Given the description of an element on the screen output the (x, y) to click on. 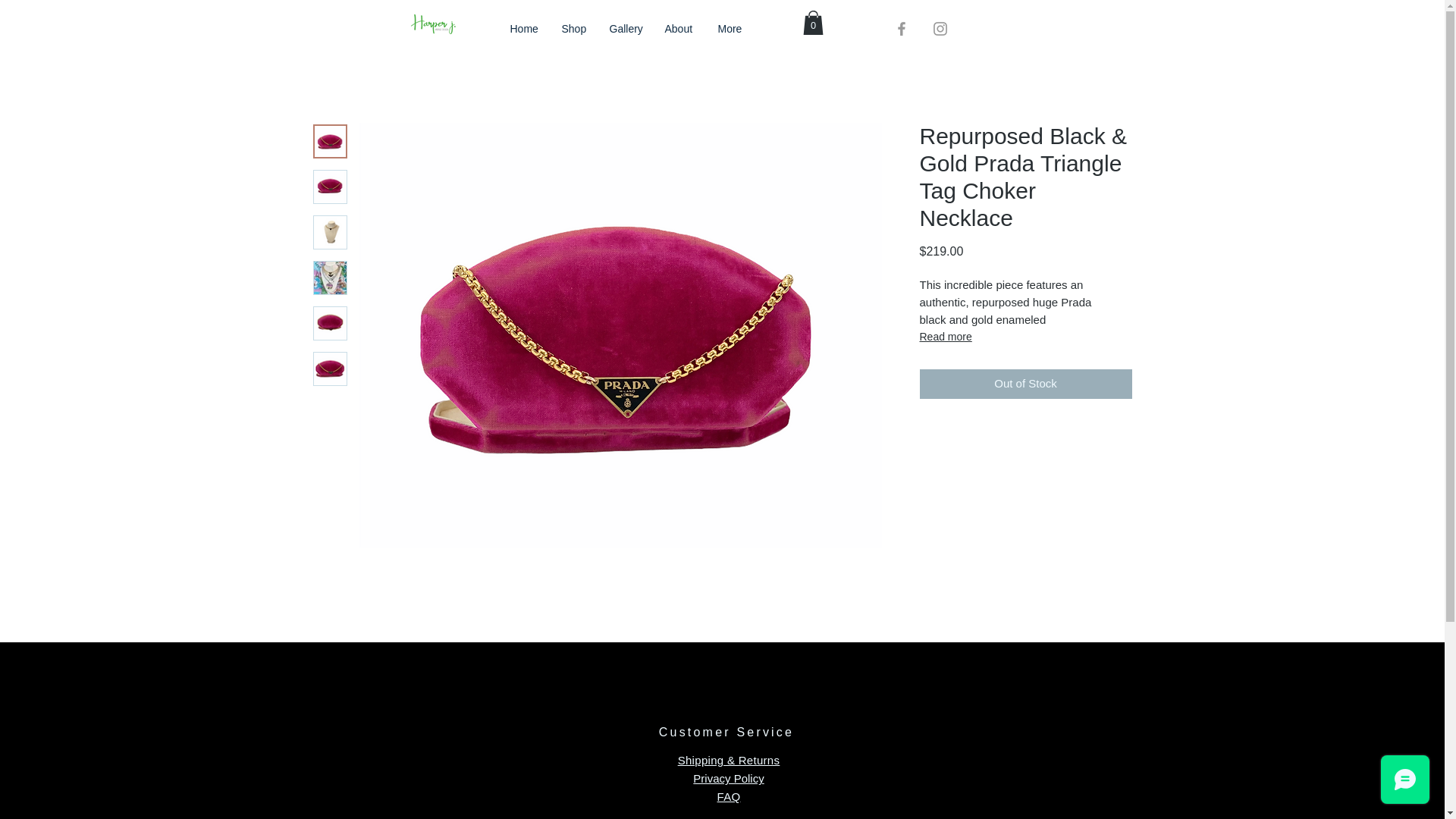
Read more (1024, 336)
About (679, 28)
Out of Stock (1024, 383)
0 (812, 22)
Privacy Policy (727, 778)
0 (812, 22)
Gallery (624, 28)
Shop (574, 28)
Home (524, 28)
FAQ (729, 796)
